Given the description of an element on the screen output the (x, y) to click on. 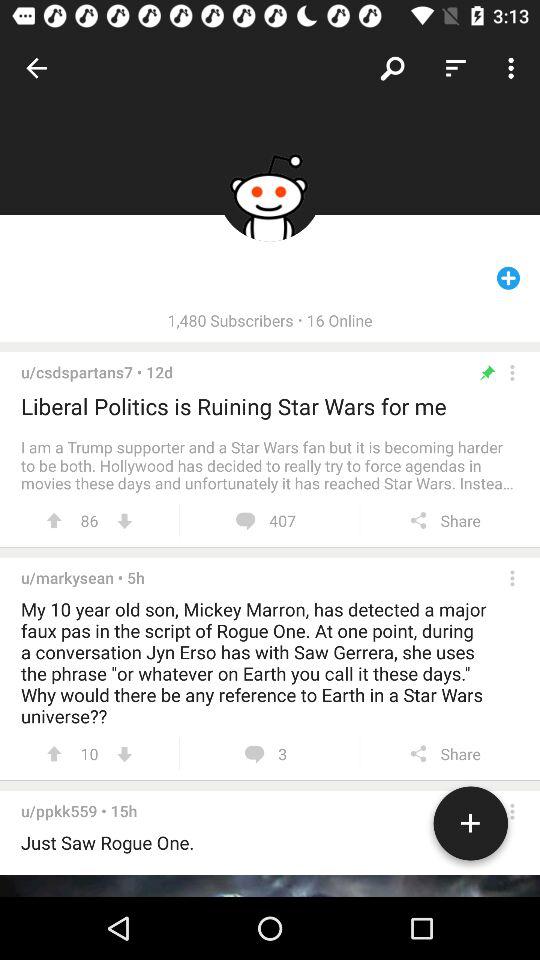
menu (512, 578)
